Given the description of an element on the screen output the (x, y) to click on. 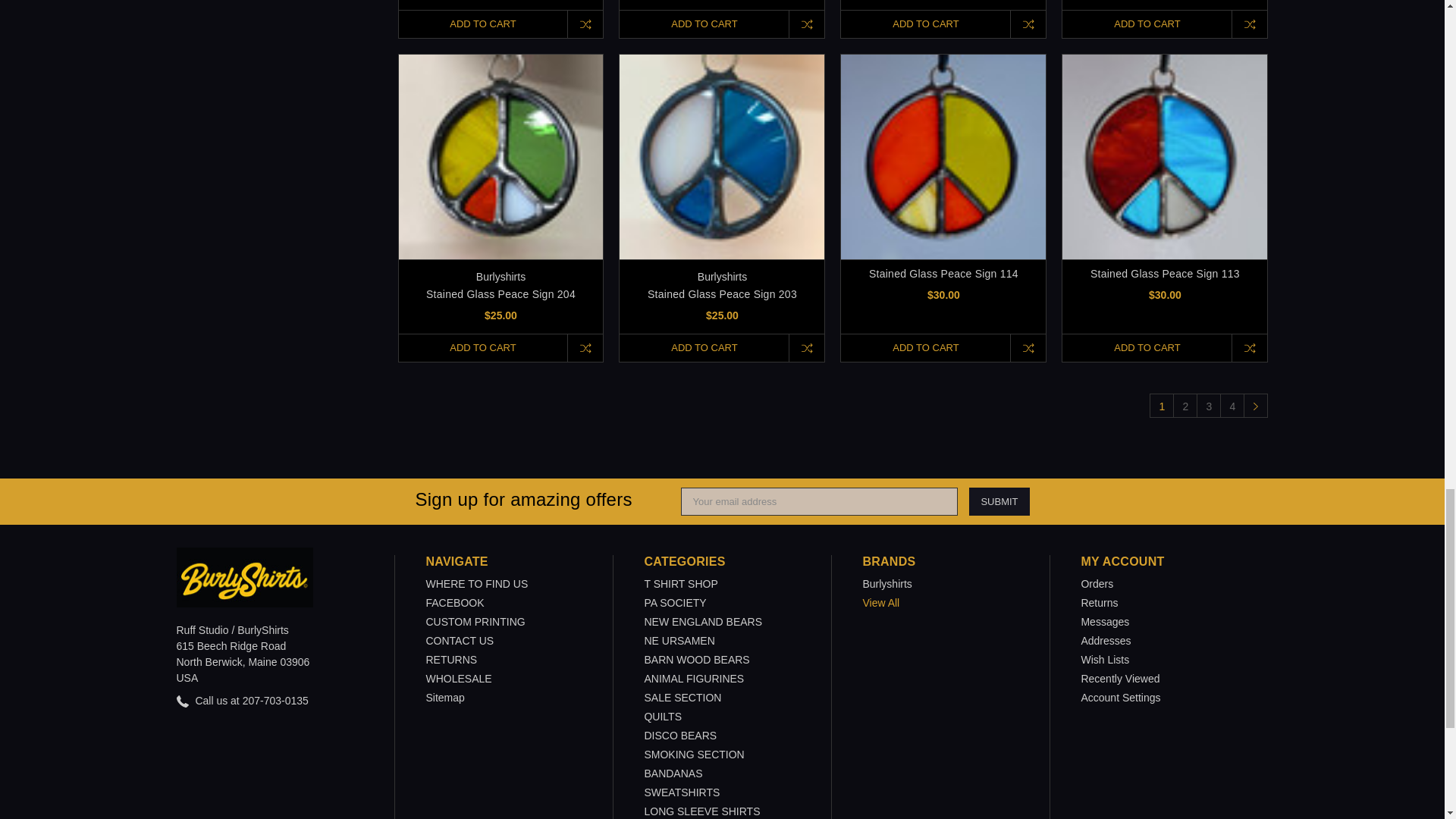
Stained Glass Peace Sign 204 (501, 156)
Stained Glass Peace Sign 113 (1164, 156)
Submit (999, 501)
Stained Glass Peace Sign 114 (943, 156)
BURLYSHIRTS (244, 577)
Stained Glass Peace Sign 203 (722, 156)
